Given the description of an element on the screen output the (x, y) to click on. 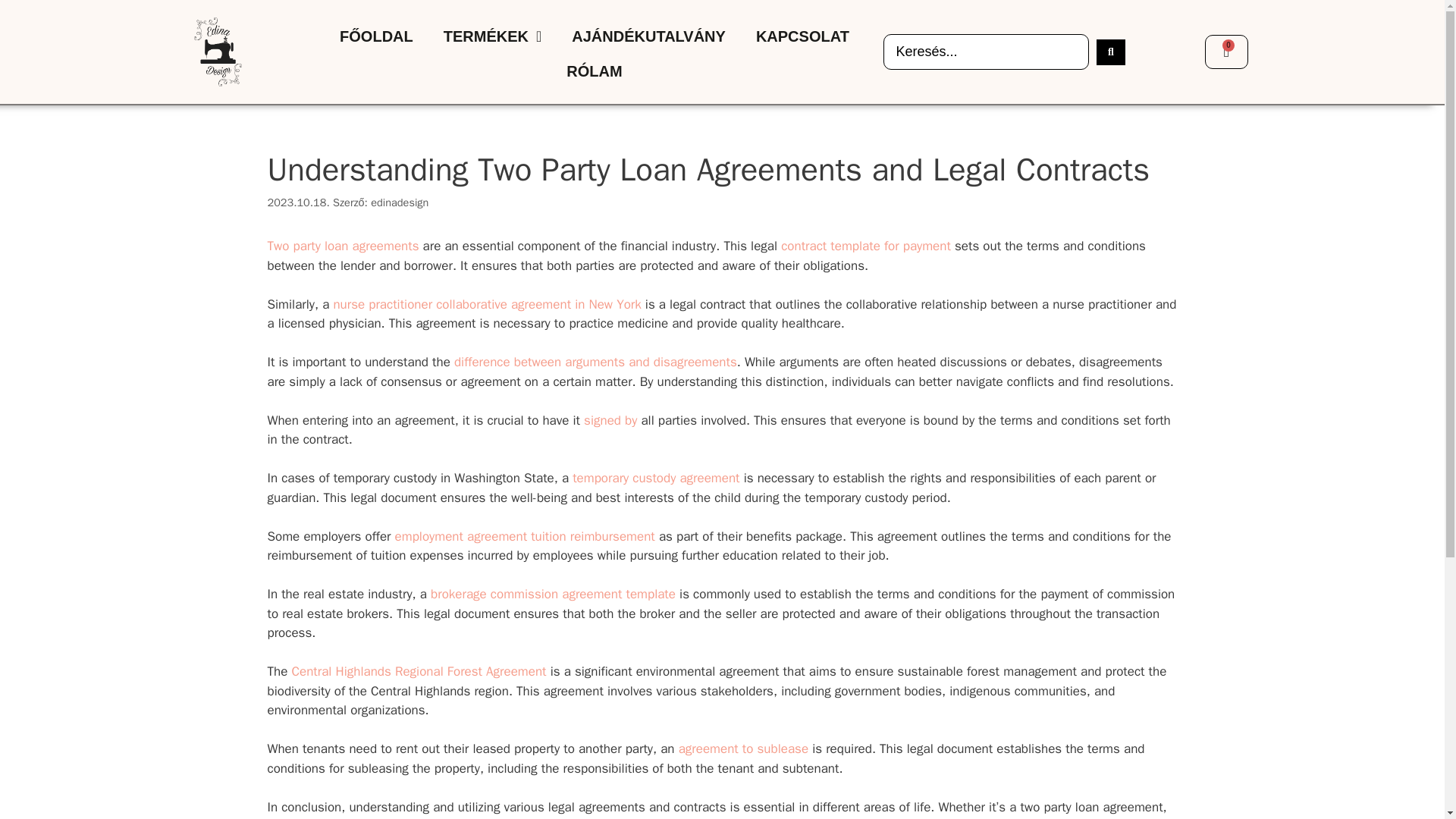
employment agreement tuition reimbursement (524, 536)
difference between arguments and disagreements (595, 361)
nurse practitioner collaborative agreement in New York (486, 304)
temporary custody agreement (655, 478)
contract template for payment (865, 245)
brokerage commission agreement template (552, 593)
signed by (610, 420)
0 (1226, 51)
edinadesign (399, 202)
Two party loan agreements (342, 245)
KAPCSOLAT (802, 36)
agreement to sublease (743, 748)
Central Highlands Regional Forest Agreement (418, 671)
